Given the description of an element on the screen output the (x, y) to click on. 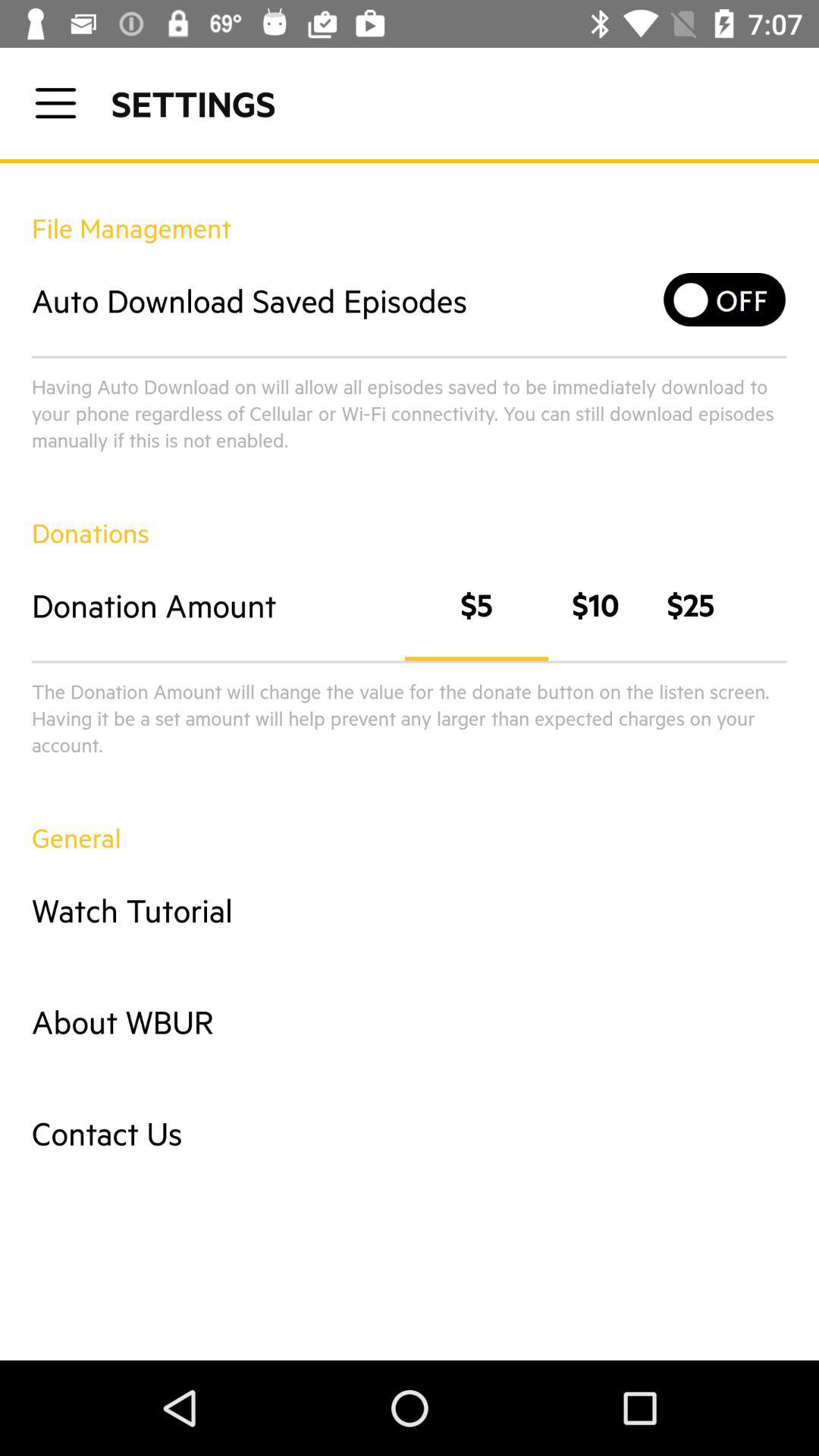
select about wbur icon (409, 1021)
